Given the description of an element on the screen output the (x, y) to click on. 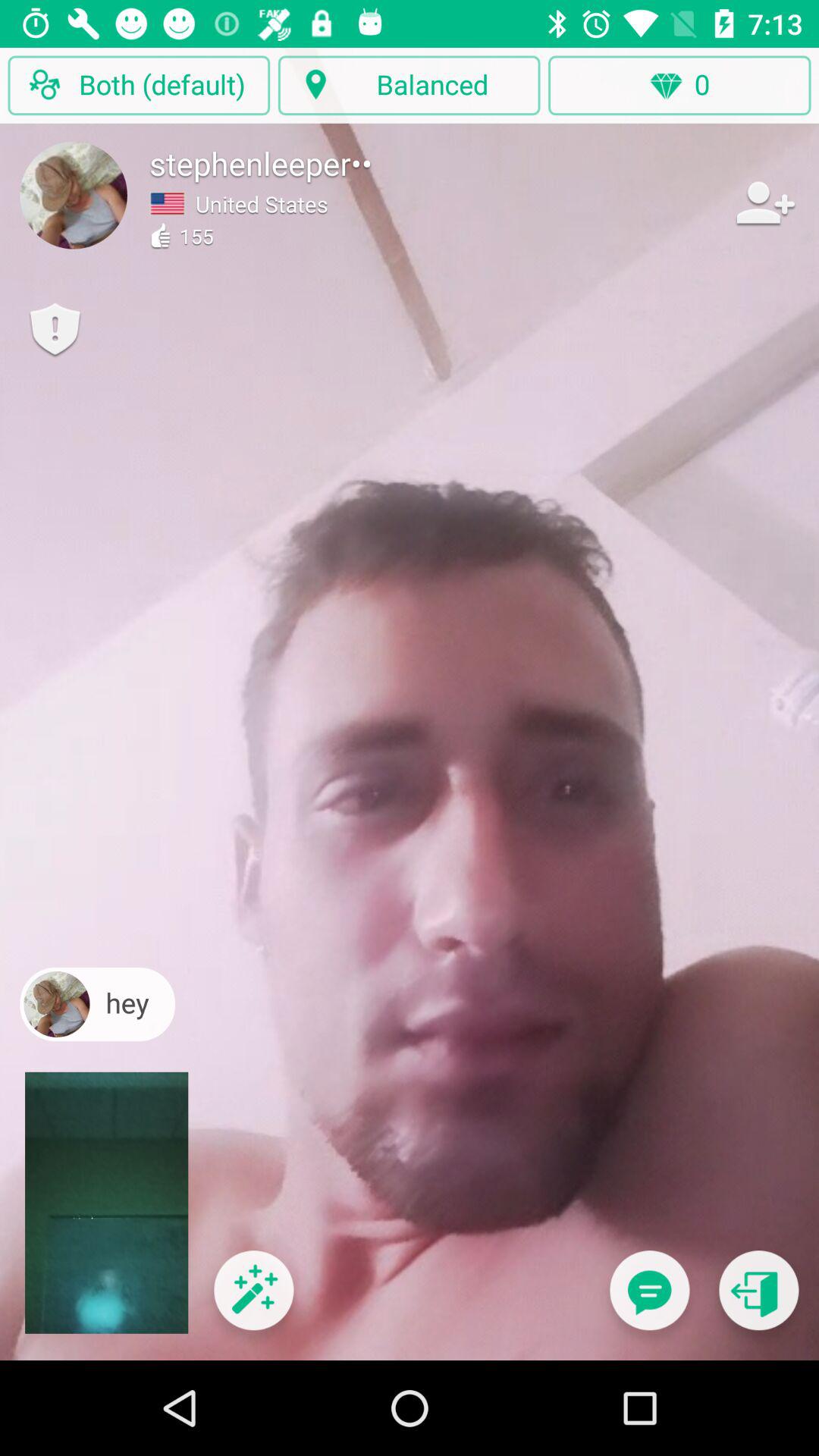
add to contacts (763, 202)
